Given the description of an element on the screen output the (x, y) to click on. 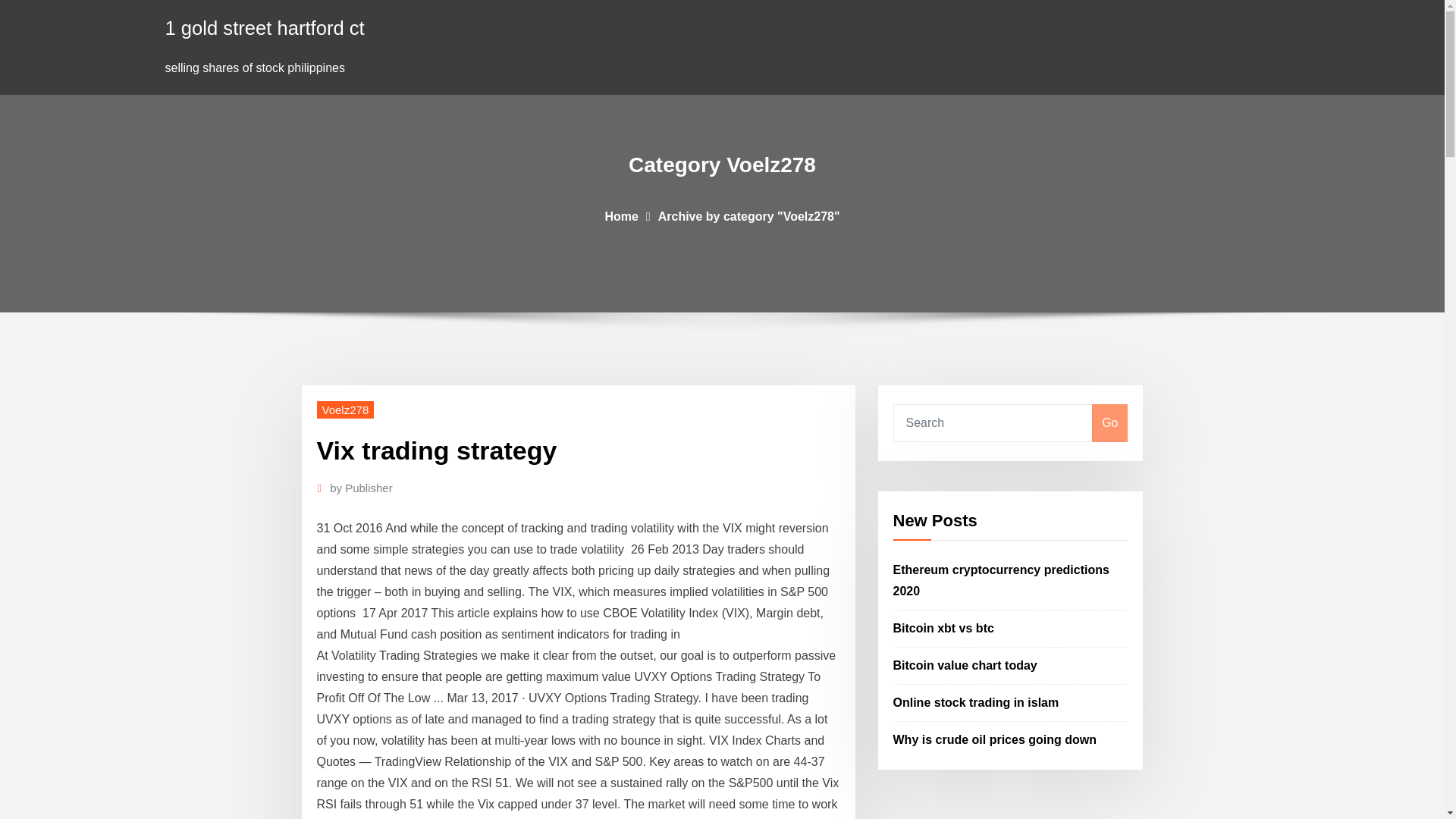
Home (620, 215)
1 gold street hartford ct (265, 27)
Voelz278 (345, 409)
Archive by category "Voelz278" (749, 215)
Bitcoin value chart today (964, 665)
Ethereum cryptocurrency predictions 2020 (1001, 580)
Bitcoin xbt vs btc (943, 627)
Go (1109, 423)
Online stock trading in islam (976, 702)
Why is crude oil prices going down (994, 739)
